Given the description of an element on the screen output the (x, y) to click on. 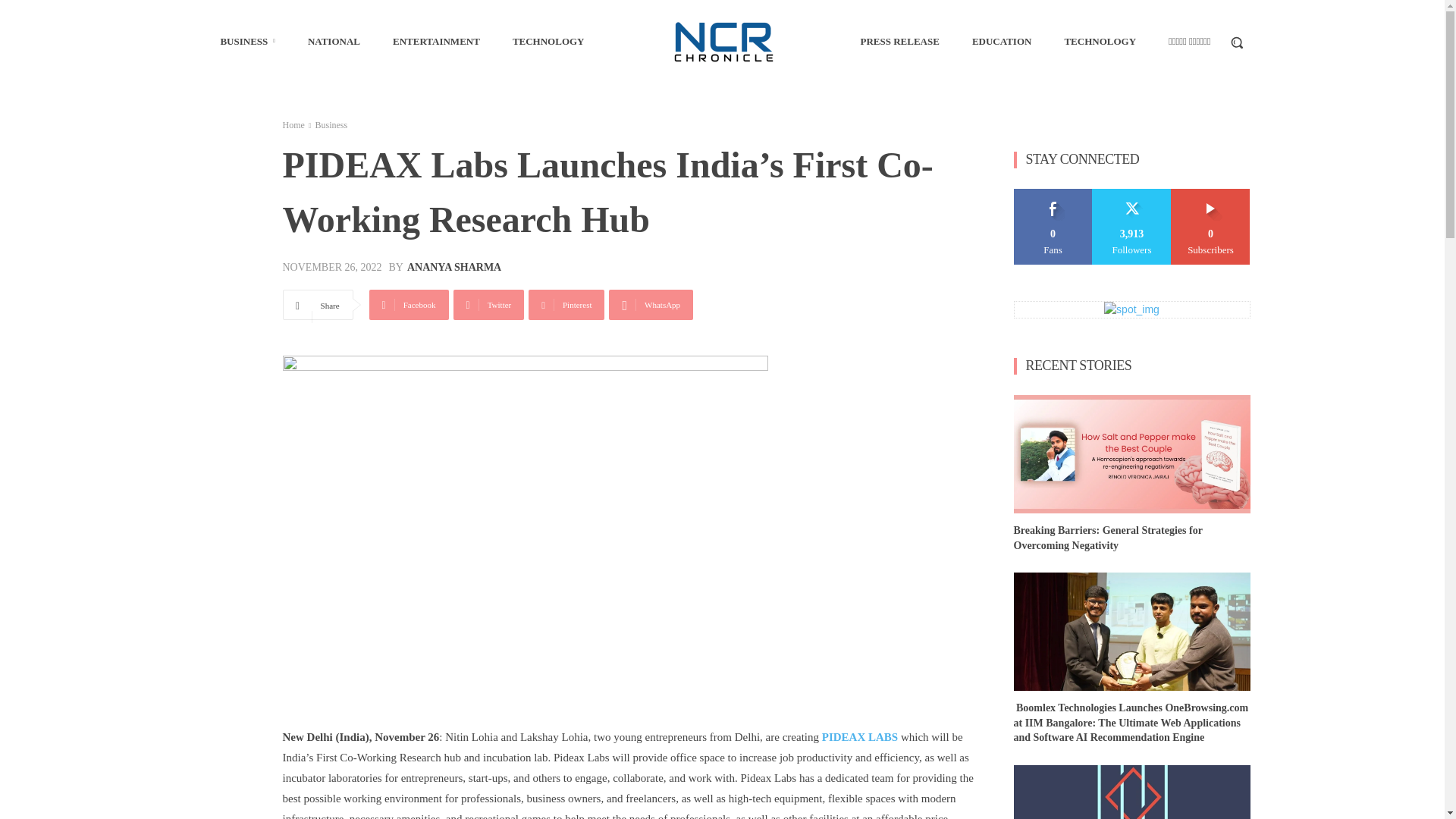
EDUCATION (1001, 40)
ENTERTAINMENT (435, 40)
NATIONAL (334, 40)
TECHNOLOGY (548, 40)
BUSINESS (247, 40)
PRESS RELEASE (898, 40)
TECHNOLOGY (1099, 40)
